Given the description of an element on the screen output the (x, y) to click on. 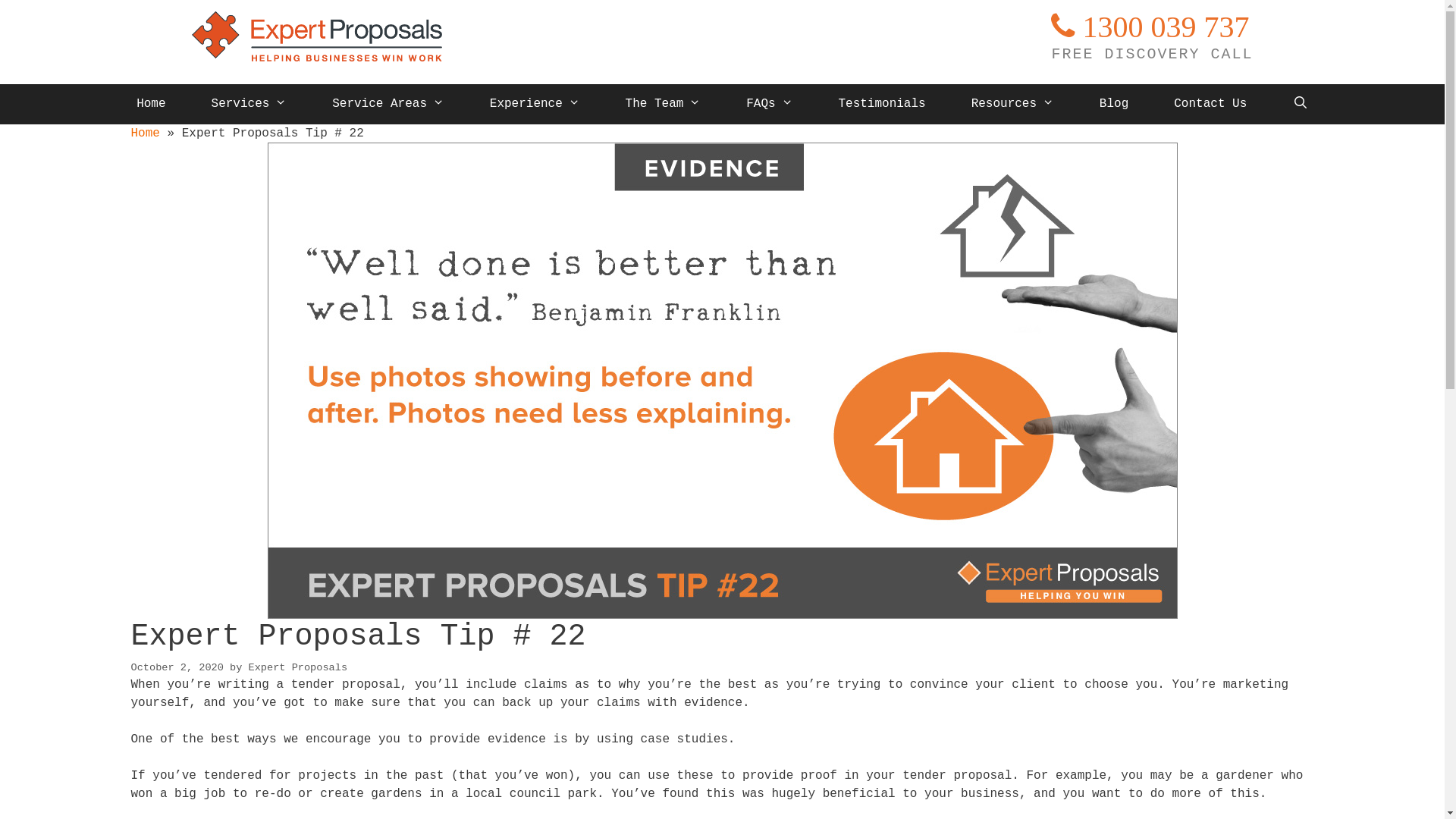
The Team Element type: text (663, 104)
Service Areas Element type: text (388, 104)
Services Element type: text (249, 104)
Testimonials Element type: text (881, 104)
Experience Element type: text (534, 104)
FAQs Element type: text (769, 104)
Expert Proposals Element type: text (298, 667)
1300 039 737 Element type: text (1149, 26)
Home Element type: text (144, 133)
Contact Us Element type: text (1210, 104)
Resources Element type: text (1012, 104)
Blog Element type: text (1113, 104)
Home Element type: text (150, 104)
